Given the description of an element on the screen output the (x, y) to click on. 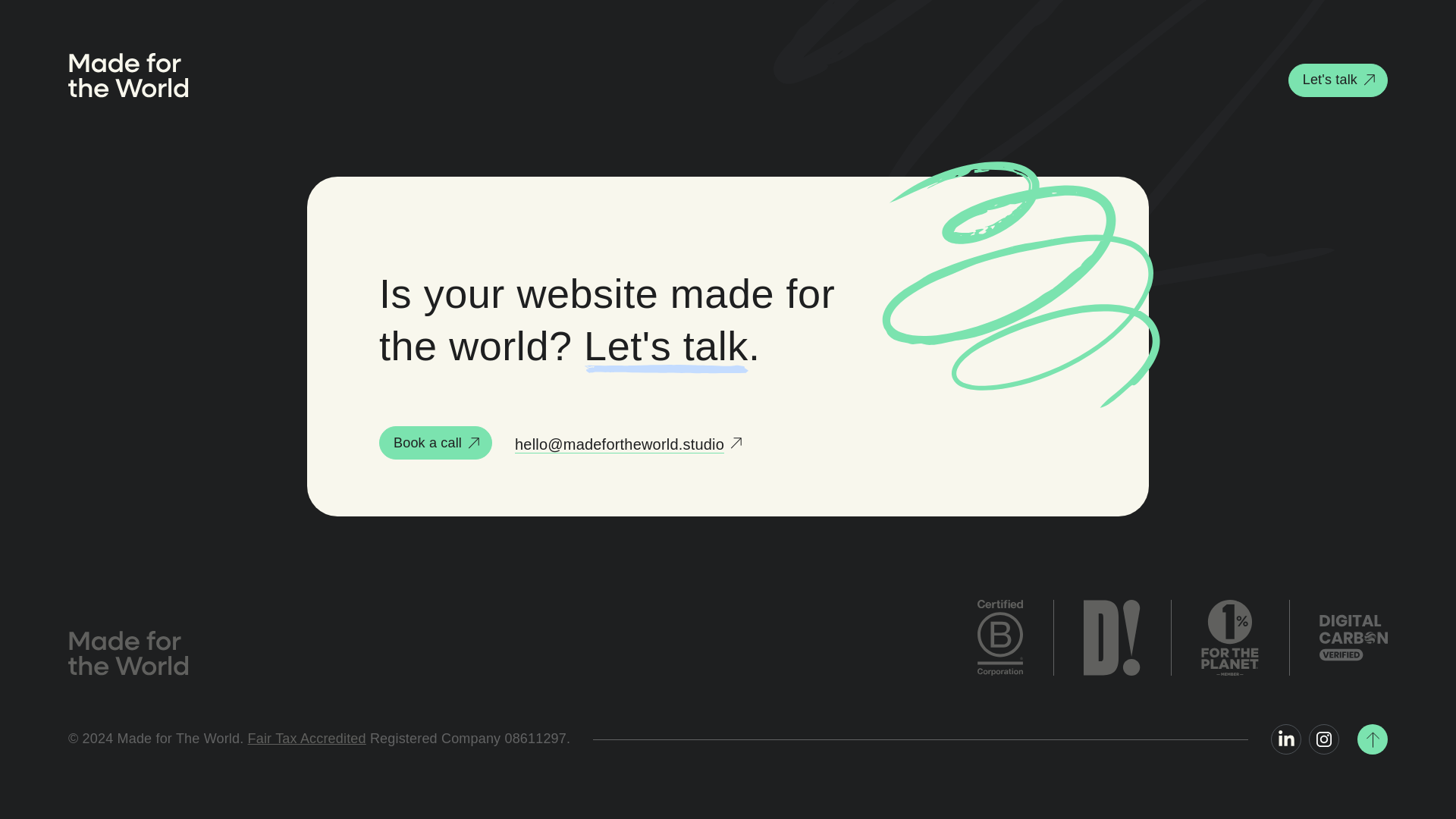
Fair Tax Accredited (306, 738)
Let's talk (1337, 80)
Book a call (435, 442)
